Given the description of an element on the screen output the (x, y) to click on. 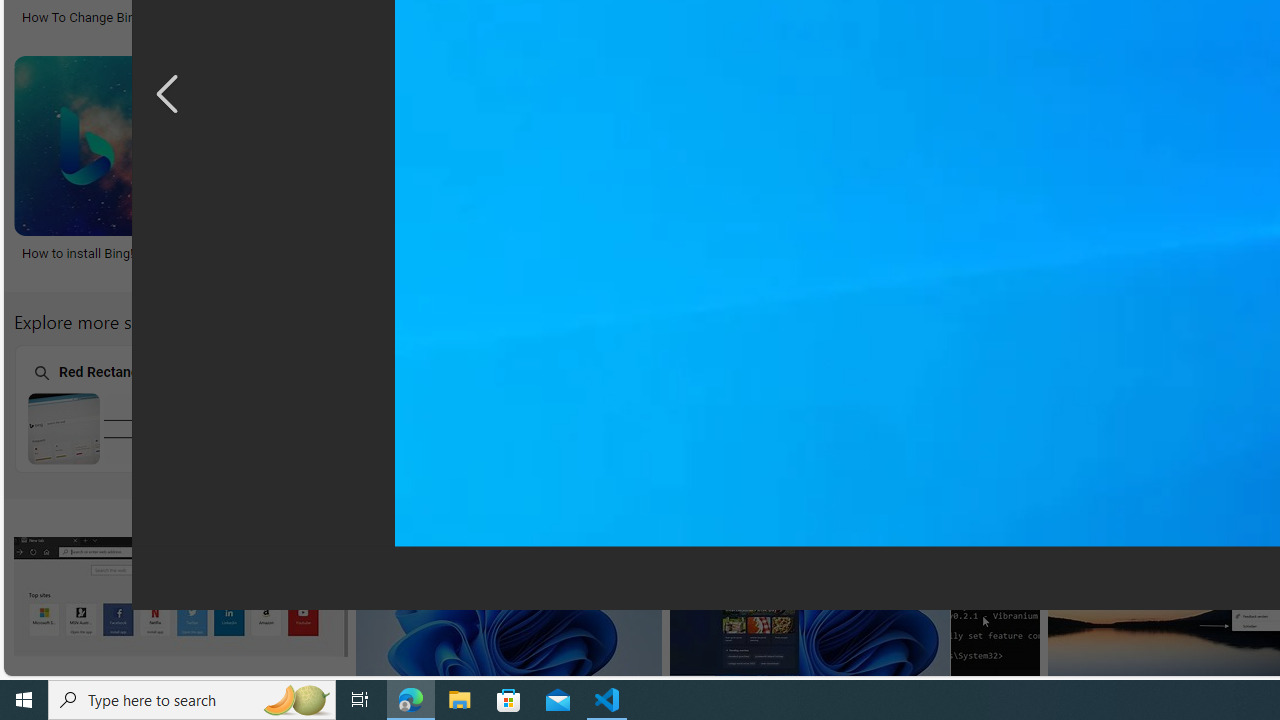
Bing Search Bar On Home Screen Home Screen (907, 408)
How To Change Bing Search Bar To Google Windows 10 (202, 16)
Install Bing In Windows 10 - Image to u (440, 253)
How To Change Bing Search Bar To Google Windows 10 (182, 16)
Image result for Bing Search Bar Install (995, 641)
Install Bing In Windows 10 - Image to u (483, 253)
Bing Search Bar Special Characters Special Characters (395, 408)
Red Rectangle Bing Search Bar (140, 428)
Red Rectangle Bing Search Bar Red Rectangle (139, 408)
Bing Search Bar On Home Screen (908, 428)
How to install Bing! (77, 253)
Bing Search Bar Enter Key (652, 428)
